Given the description of an element on the screen output the (x, y) to click on. 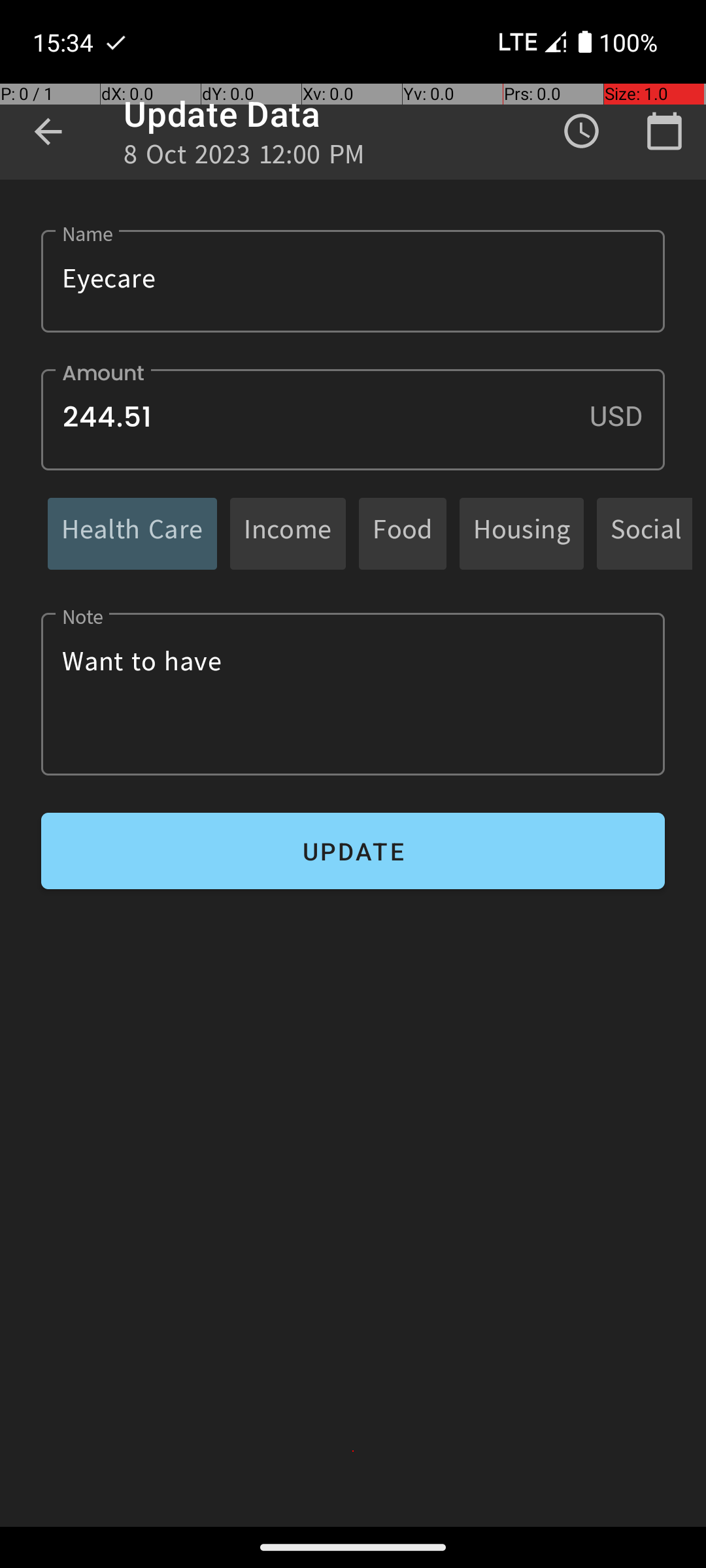
8 Oct 2023 12:00 PM Element type: android.widget.TextView (244, 157)
Eyecare Element type: android.widget.EditText (352, 280)
244.51 Element type: android.widget.EditText (352, 419)
Health Care Element type: android.widget.TextView (132, 533)
